Given the description of an element on the screen output the (x, y) to click on. 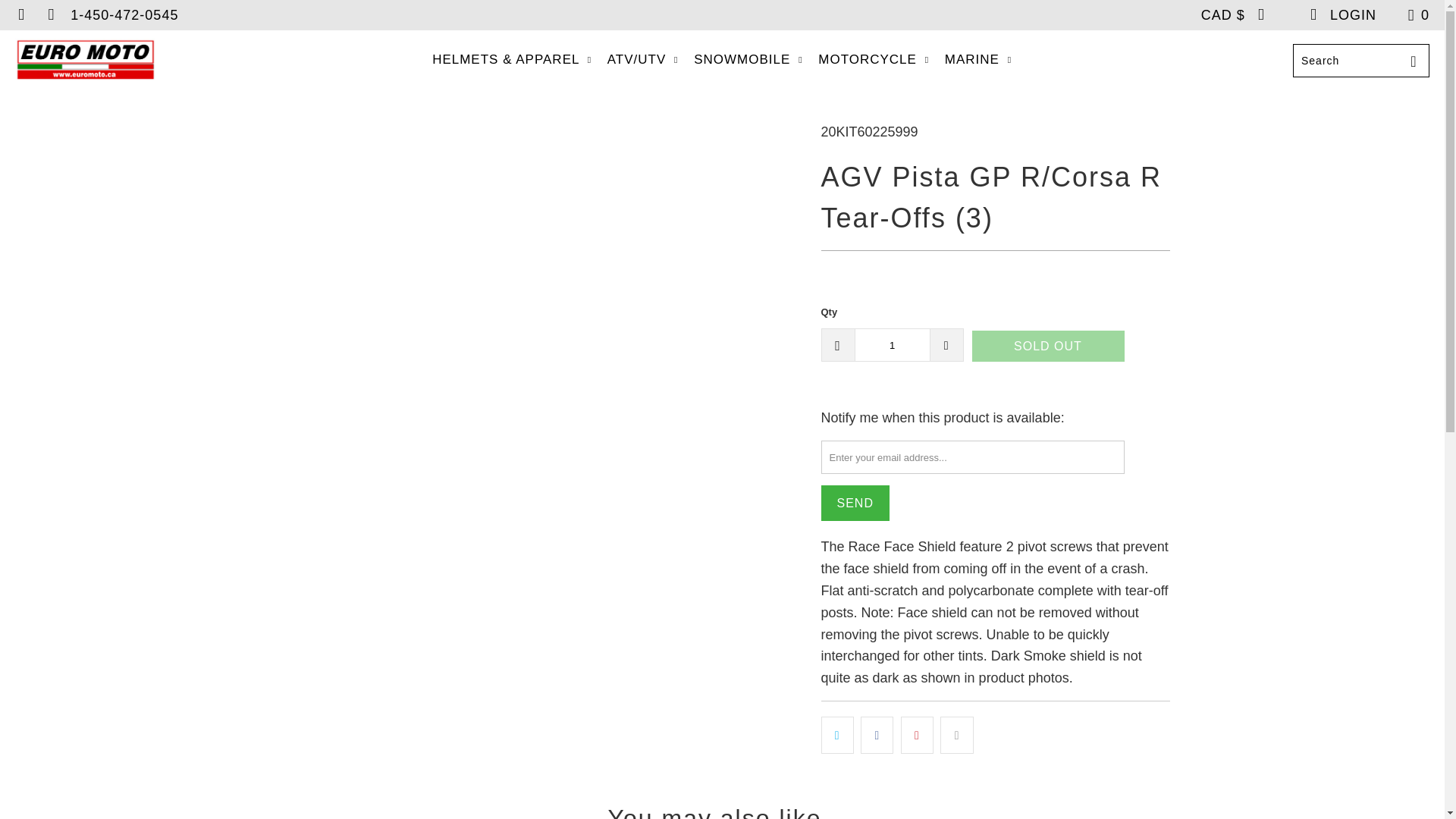
Send (854, 502)
Euromoto on Facebook (20, 14)
1 (891, 344)
Email Euromoto (49, 14)
Euromoto (84, 60)
My Account  (1341, 15)
